Given the description of an element on the screen output the (x, y) to click on. 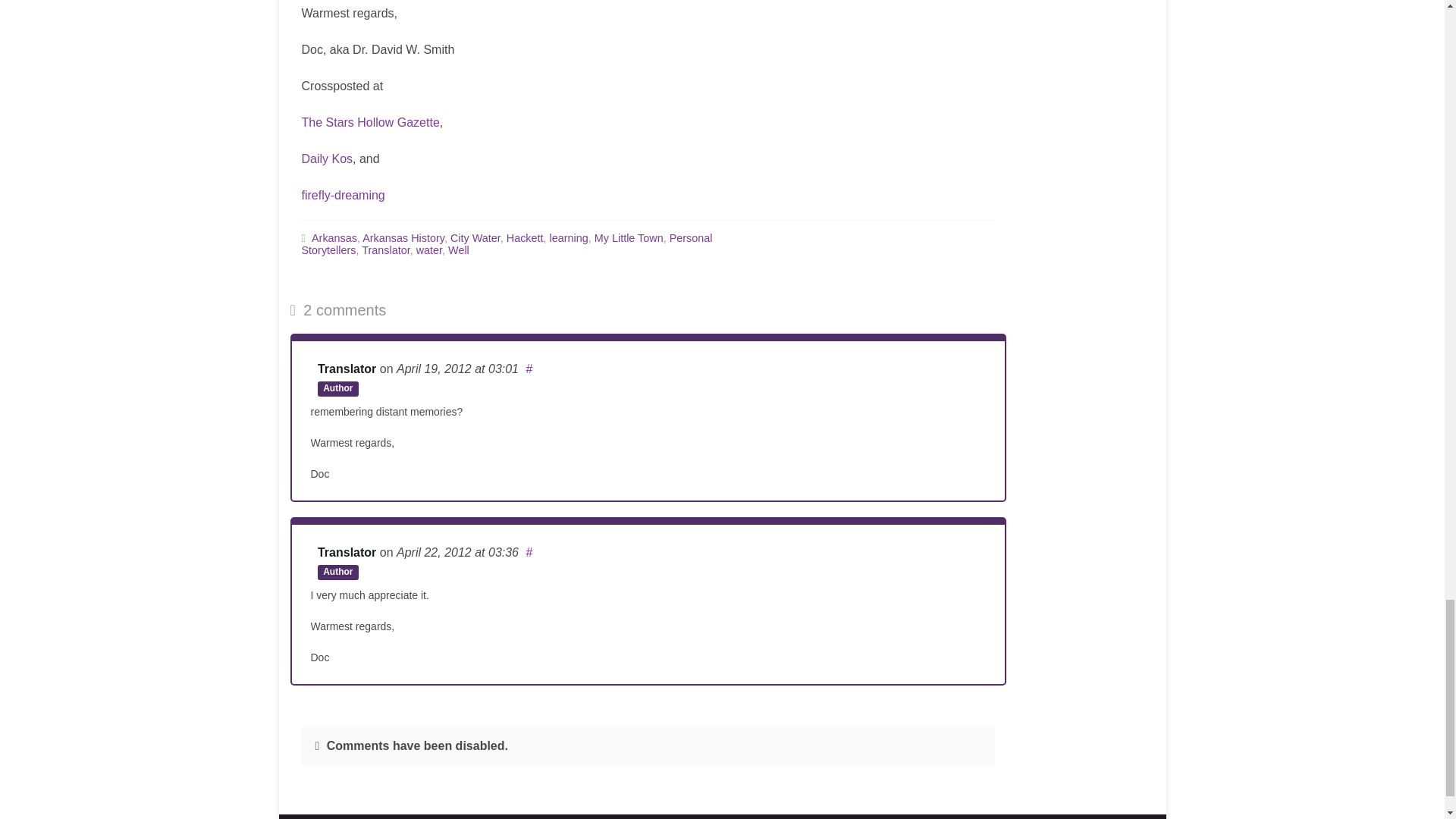
Translator (385, 250)
Hackett (524, 237)
Well (458, 250)
City Water (474, 237)
Arkansas History (403, 237)
The Stars Hollow Gazette (370, 122)
Arkansas (333, 237)
Translator (346, 552)
water (429, 250)
My Little Town (628, 237)
learning (569, 237)
firefly-dreaming (343, 195)
Personal Storytellers (507, 243)
Translator (346, 368)
Daily Kos (327, 158)
